Given the description of an element on the screen output the (x, y) to click on. 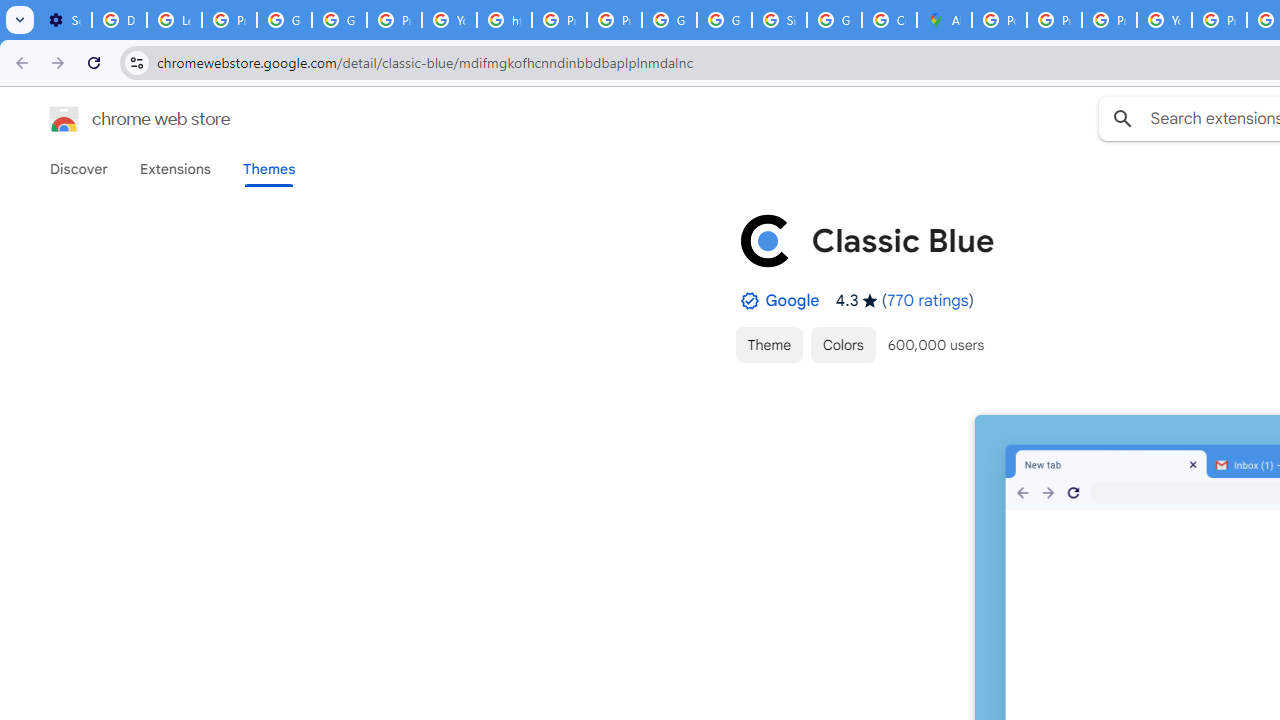
Themes (269, 169)
By Established Publisher Badge (749, 301)
Privacy Help Center - Policies Help (1108, 20)
Discover (79, 169)
Delete photos & videos - Computer - Google Photos Help (119, 20)
Create your Google Account (888, 20)
Theme (768, 344)
